Given the description of an element on the screen output the (x, y) to click on. 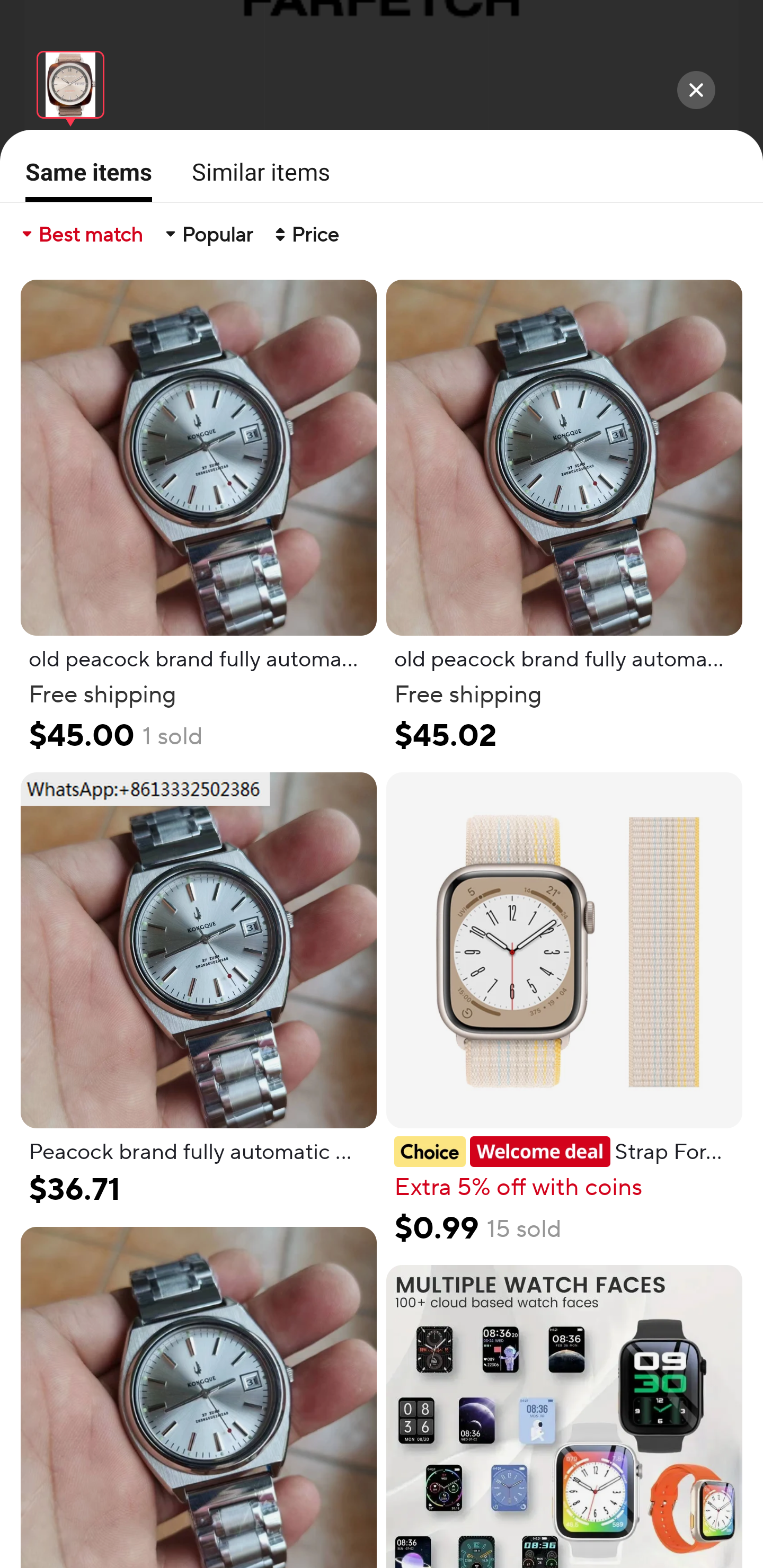
Same items (83, 178)
Similar items (255, 171)
Best match (81, 234)
Popular (207, 234)
Price (305, 234)
